Given the description of an element on the screen output the (x, y) to click on. 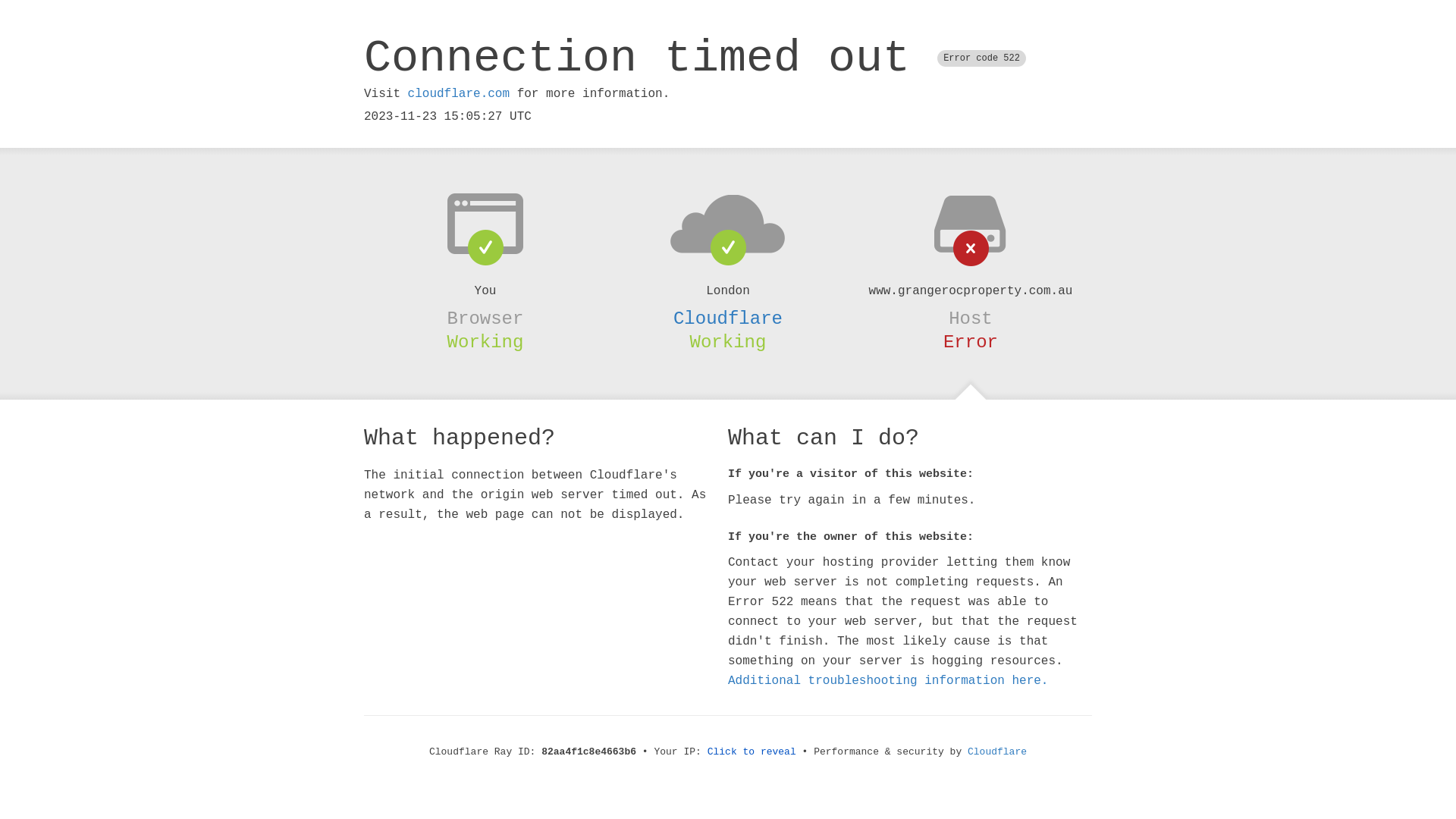
cloudflare.com Element type: text (458, 93)
Additional troubleshooting information here. Element type: text (888, 680)
Click to reveal Element type: text (751, 751)
Cloudflare Element type: text (727, 318)
Cloudflare Element type: text (996, 751)
